Given the description of an element on the screen output the (x, y) to click on. 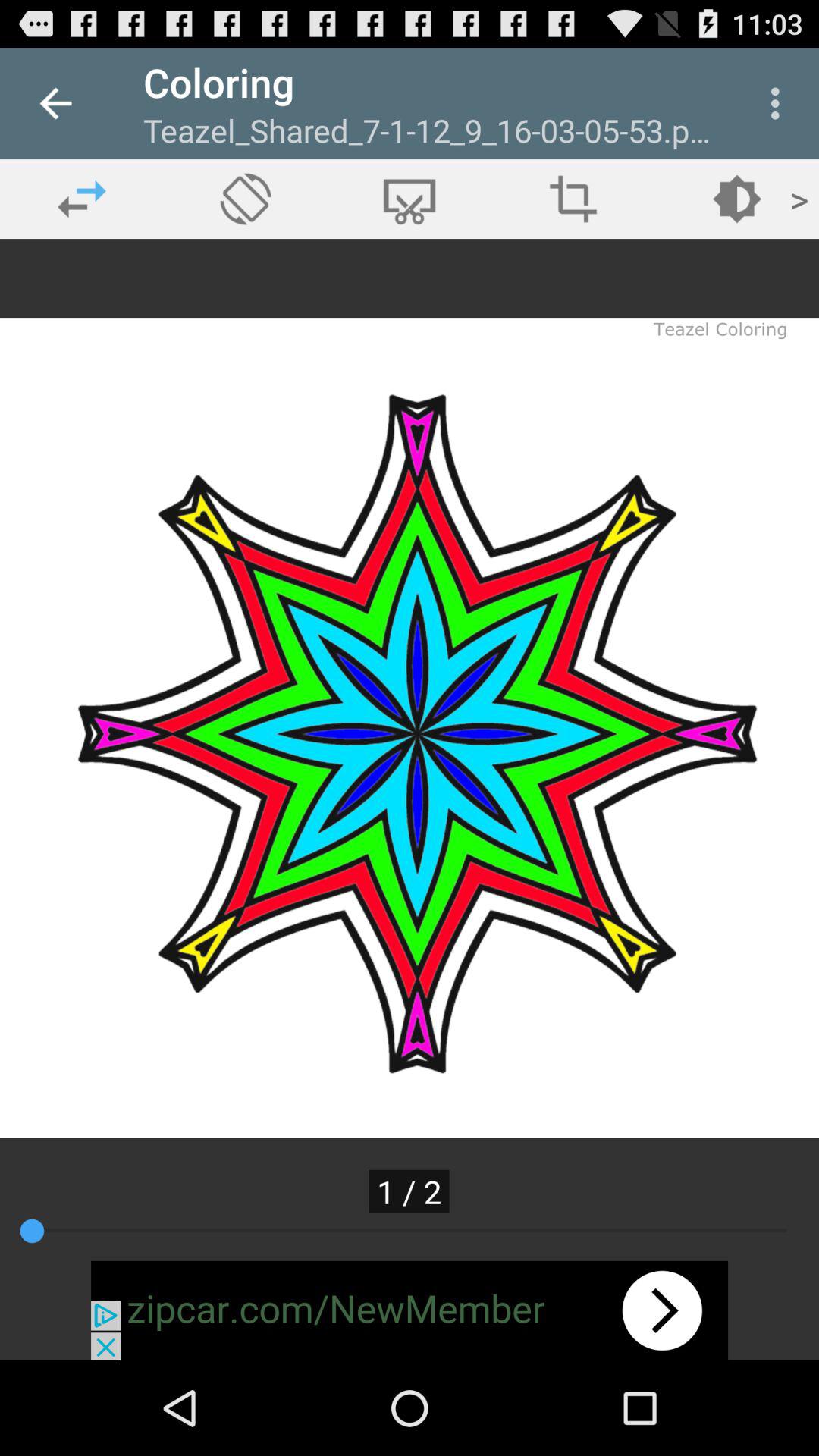
click the cut option (409, 198)
